Given the description of an element on the screen output the (x, y) to click on. 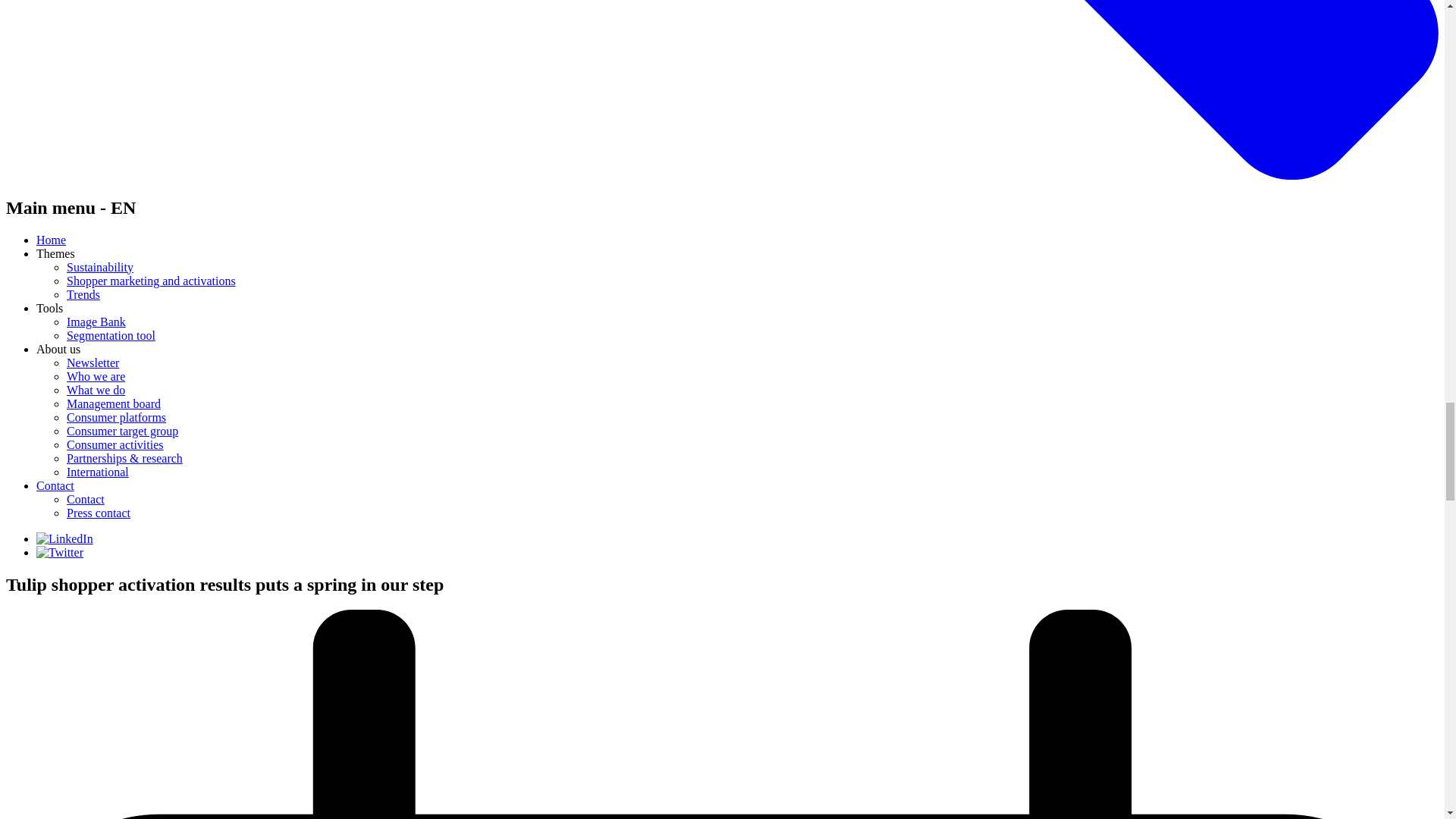
Who we are (95, 376)
Consumer platforms (115, 417)
Home (50, 239)
Sustainability (99, 267)
Trends (83, 294)
Segmentation tool (110, 335)
Image Bank (95, 321)
What we do (95, 390)
Shopper marketing and activations (150, 280)
Newsletter (92, 362)
